Given the description of an element on the screen output the (x, y) to click on. 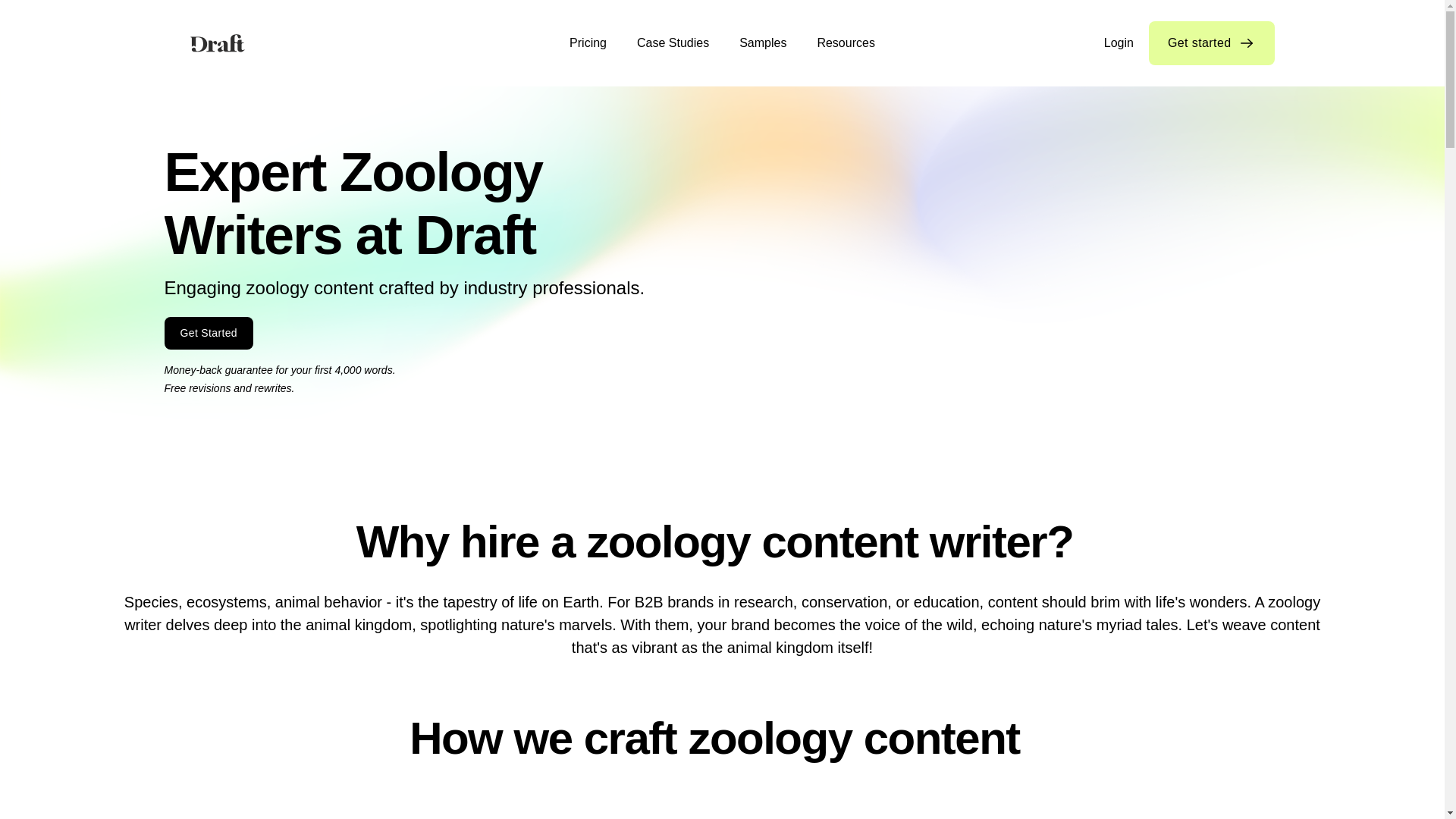
Get started (1211, 43)
Get Started (207, 332)
Case Studies (673, 43)
Login (1125, 43)
Resources (845, 43)
Pricing (588, 43)
Samples (762, 43)
